Given the description of an element on the screen output the (x, y) to click on. 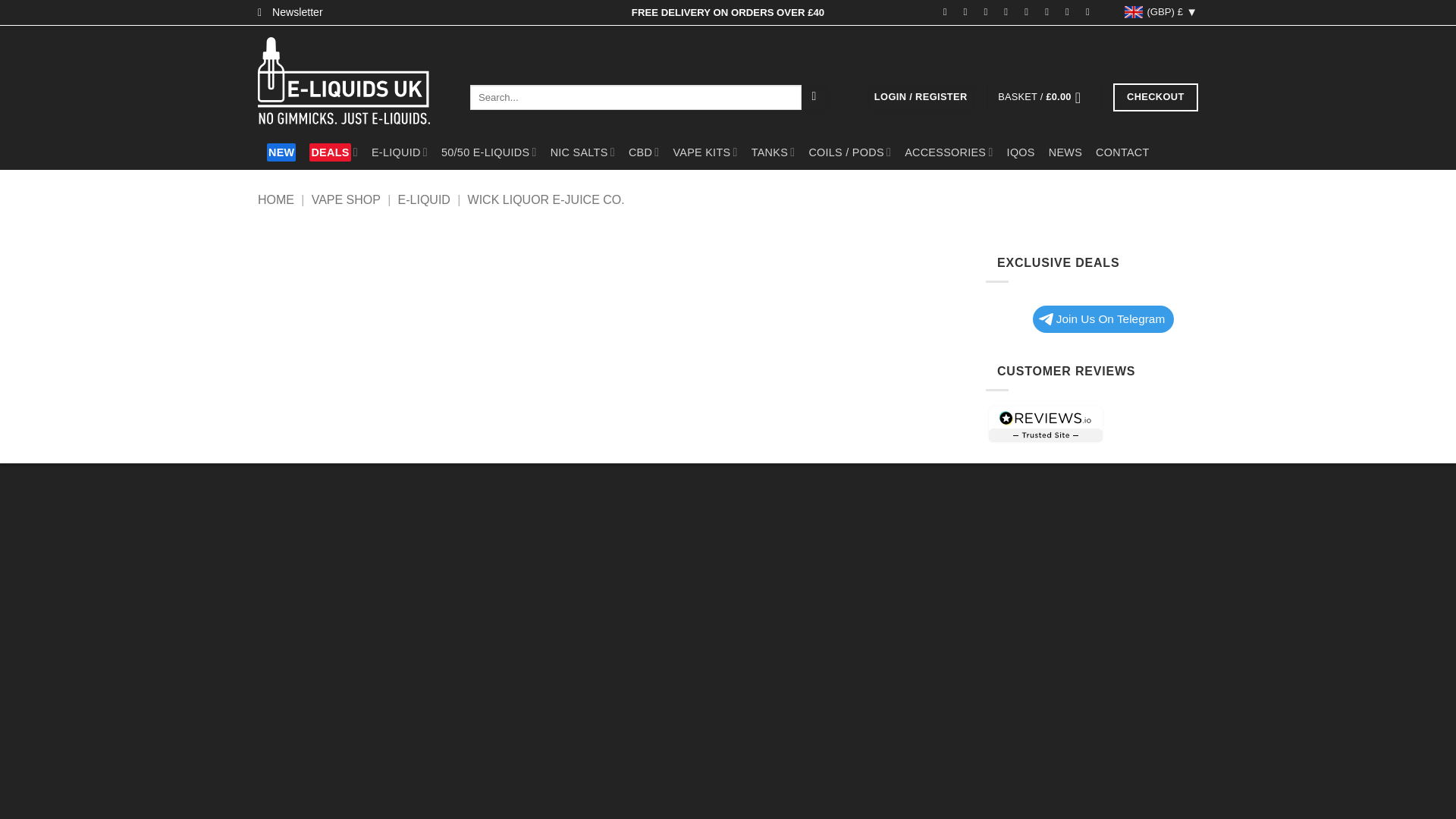
CHECKOUT (1155, 97)
Newsletter (290, 12)
Search (814, 97)
Login (920, 97)
Newsletter (290, 12)
E-LIQUID (399, 152)
DEALS (333, 151)
Basket (1043, 96)
E-Liquids UK - The UK's Leading Online Vape Shop (351, 80)
